Given the description of an element on the screen output the (x, y) to click on. 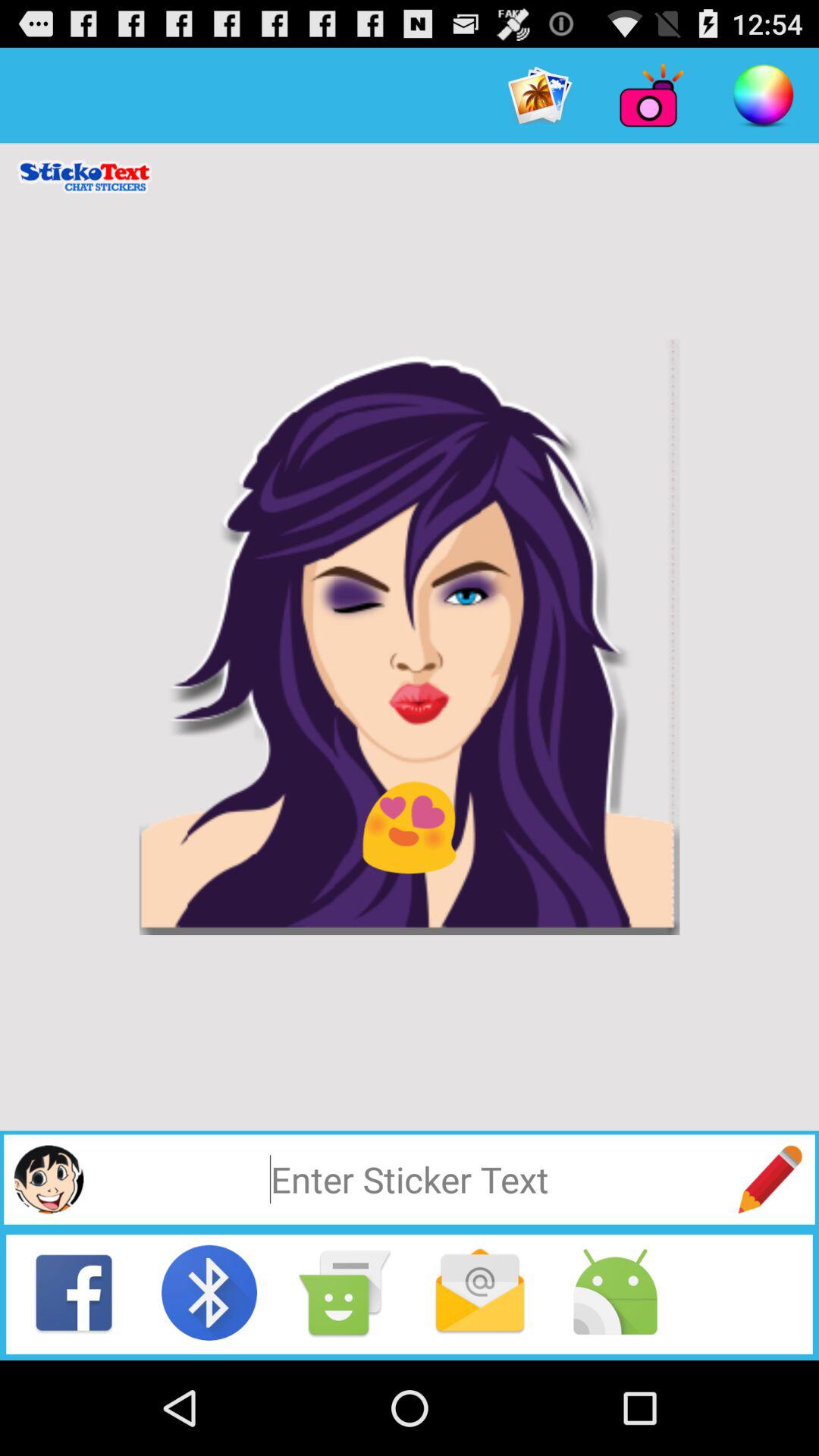
click at the icon of mail (479, 1292)
click on the image above facebook symbol (49, 1179)
select the android option in the bottom (615, 1292)
click on option left to camera at top right (540, 95)
select the second option on the right side of the page (651, 95)
select the image (409, 636)
